Given the description of an element on the screen output the (x, y) to click on. 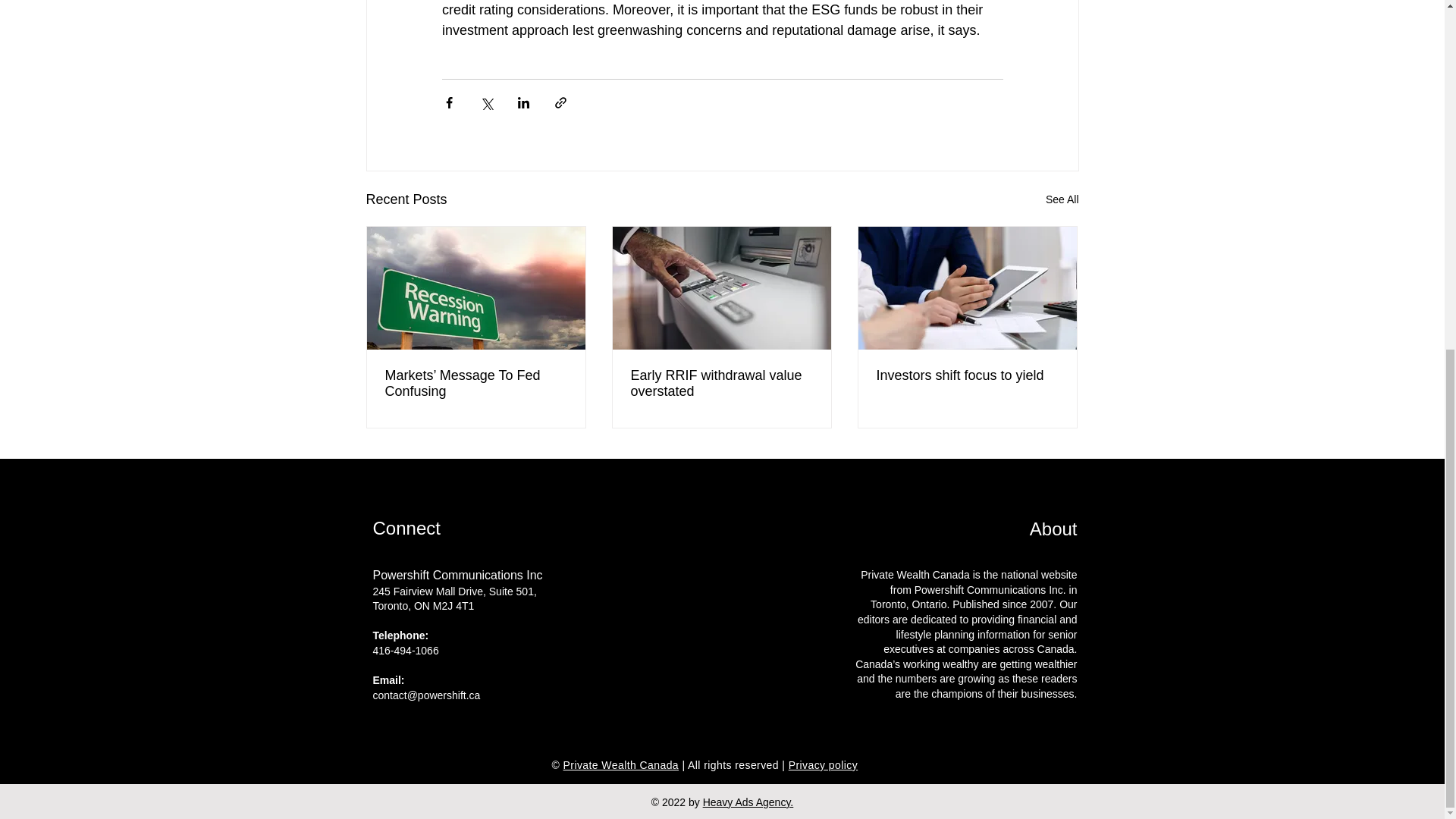
See All (1061, 199)
Private Wealth Canada (621, 765)
Privacy policy (823, 765)
Investors shift focus to yield (967, 375)
Heavy Ads Agency. (748, 802)
Early RRIF withdrawal value overstated (721, 383)
